Given the description of an element on the screen output the (x, y) to click on. 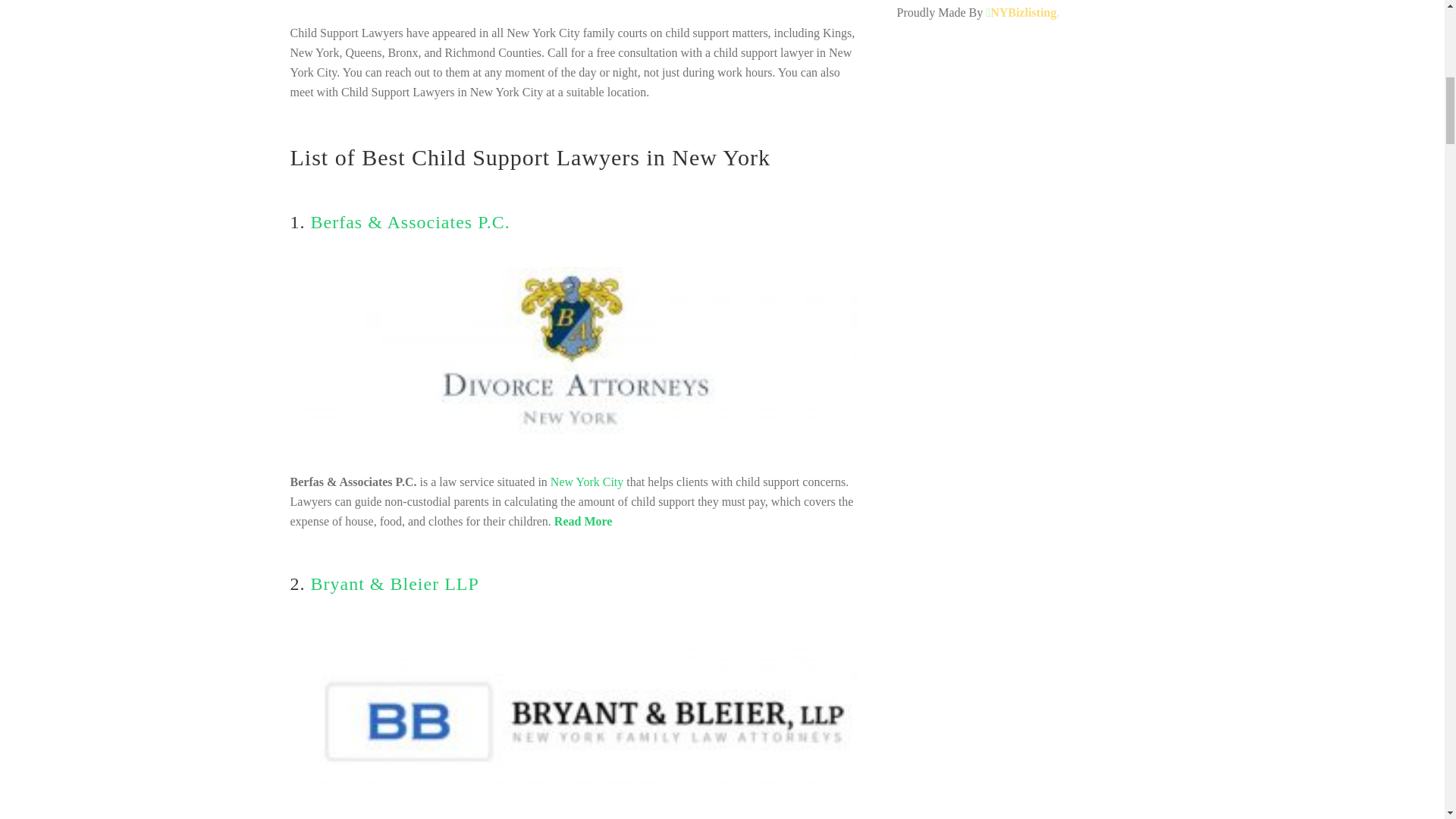
New York City (586, 481)
Read More (583, 521)
